Given the description of an element on the screen output the (x, y) to click on. 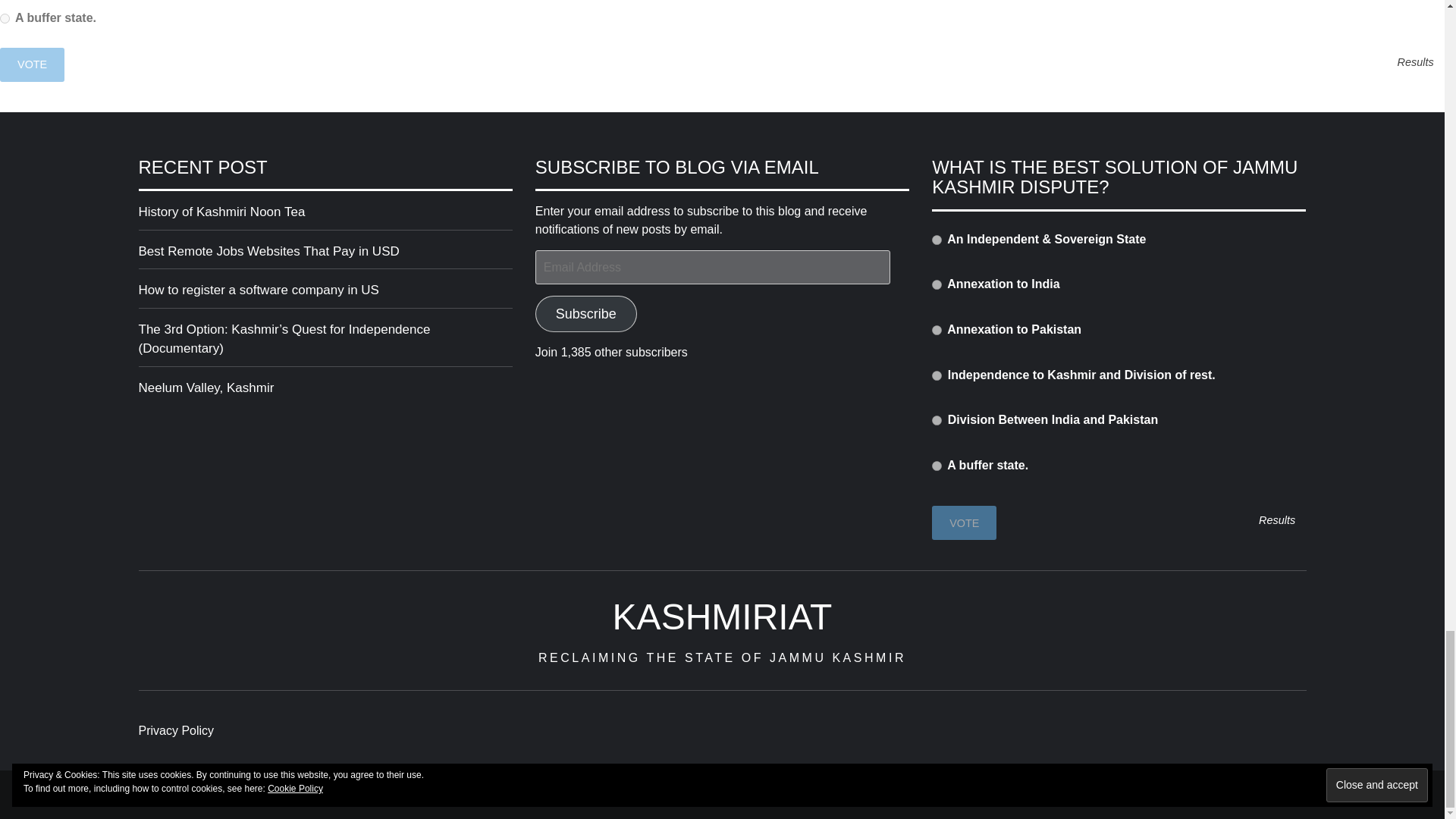
Vote (32, 64)
